Given the description of an element on the screen output the (x, y) to click on. 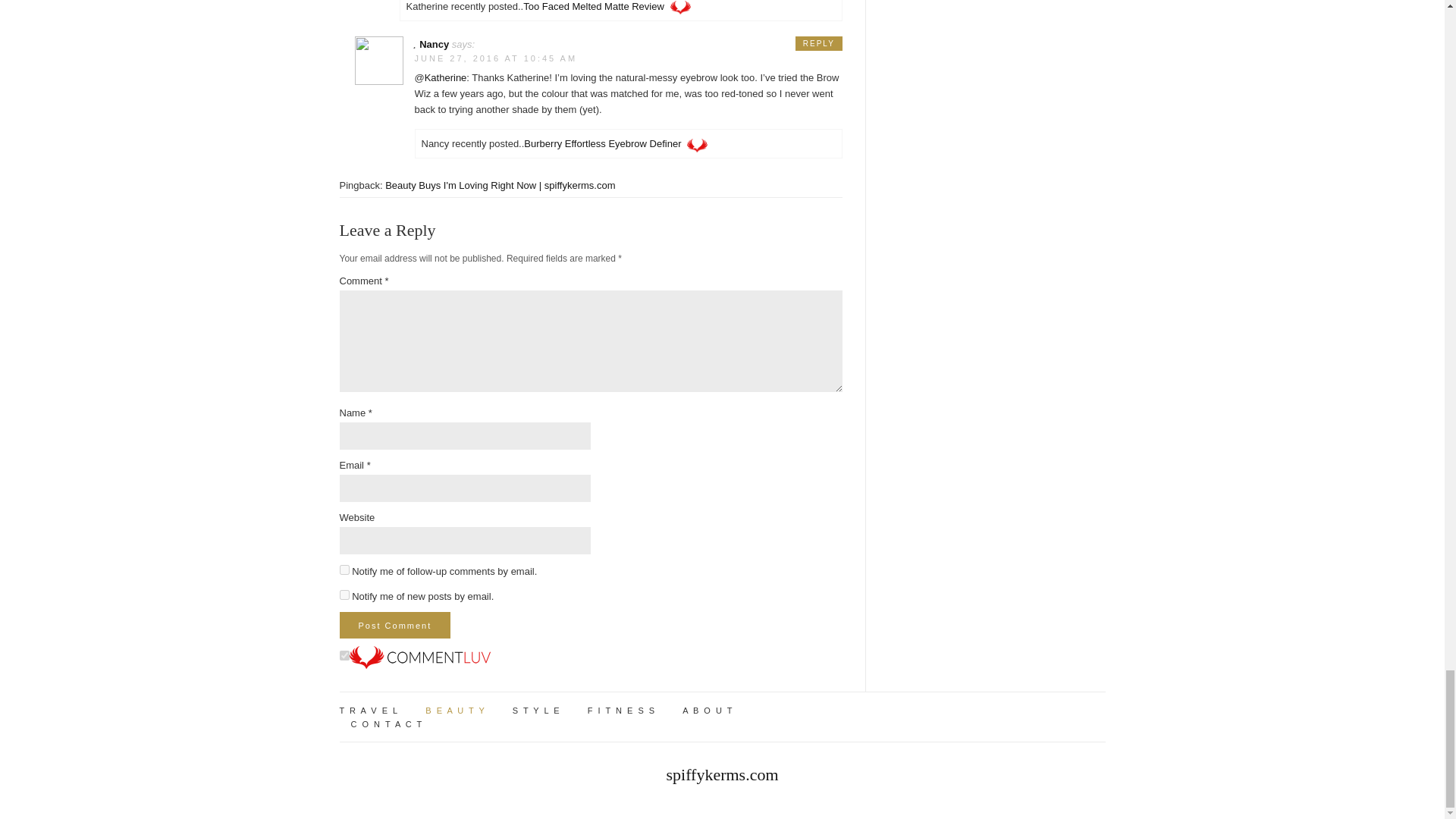
subscribe (344, 569)
on (344, 655)
subscribe (344, 594)
Post Comment (395, 624)
